Given the description of an element on the screen output the (x, y) to click on. 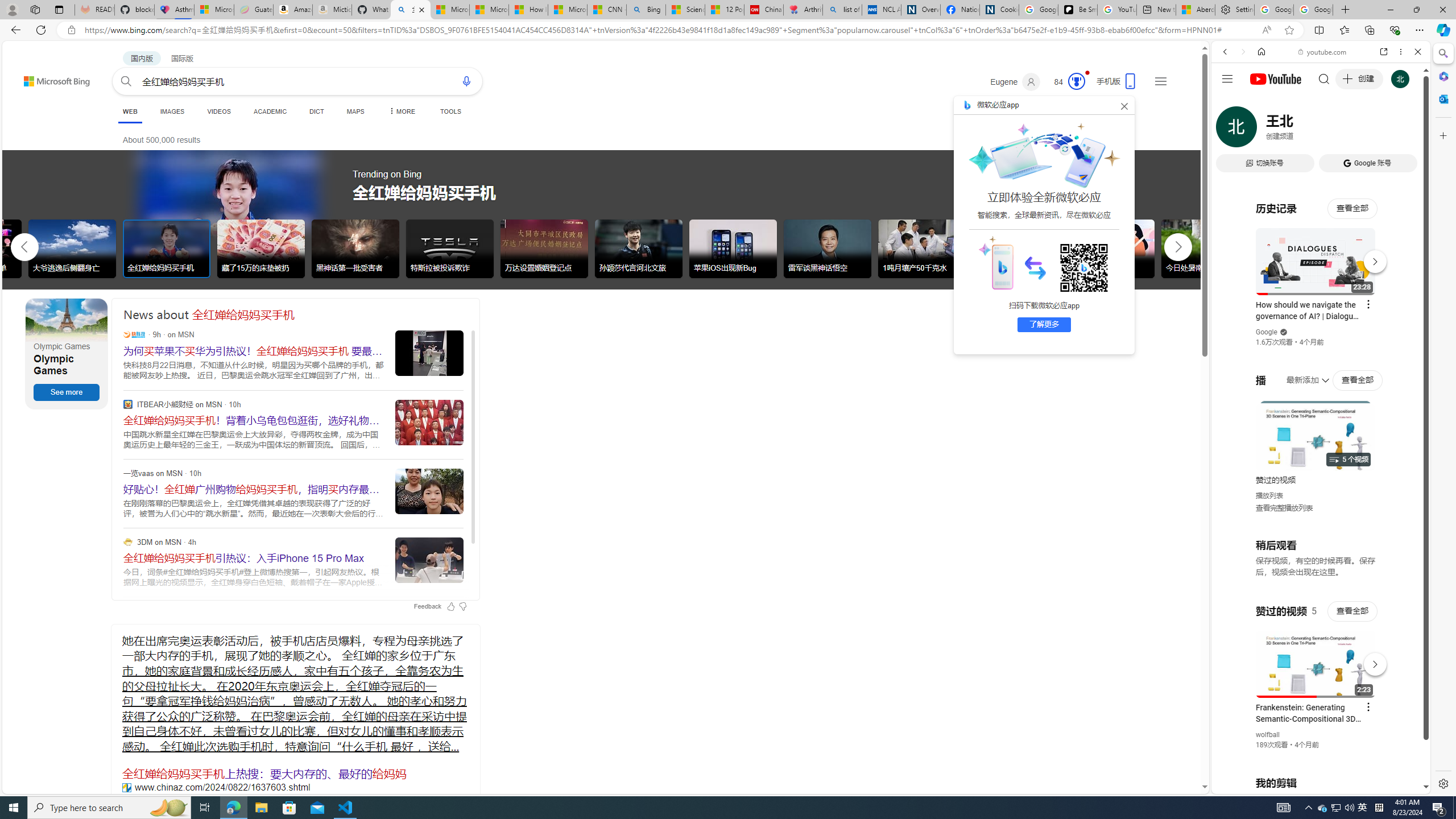
Search more (1179, 753)
Music (1320, 309)
Feedback Dislike (462, 605)
YouTube - YouTube (1315, 560)
Preferences (1403, 129)
AutomationID: serp_medal_svg (1076, 81)
Class: rms_img (994, 262)
TOOLS (450, 111)
